Given the description of an element on the screen output the (x, y) to click on. 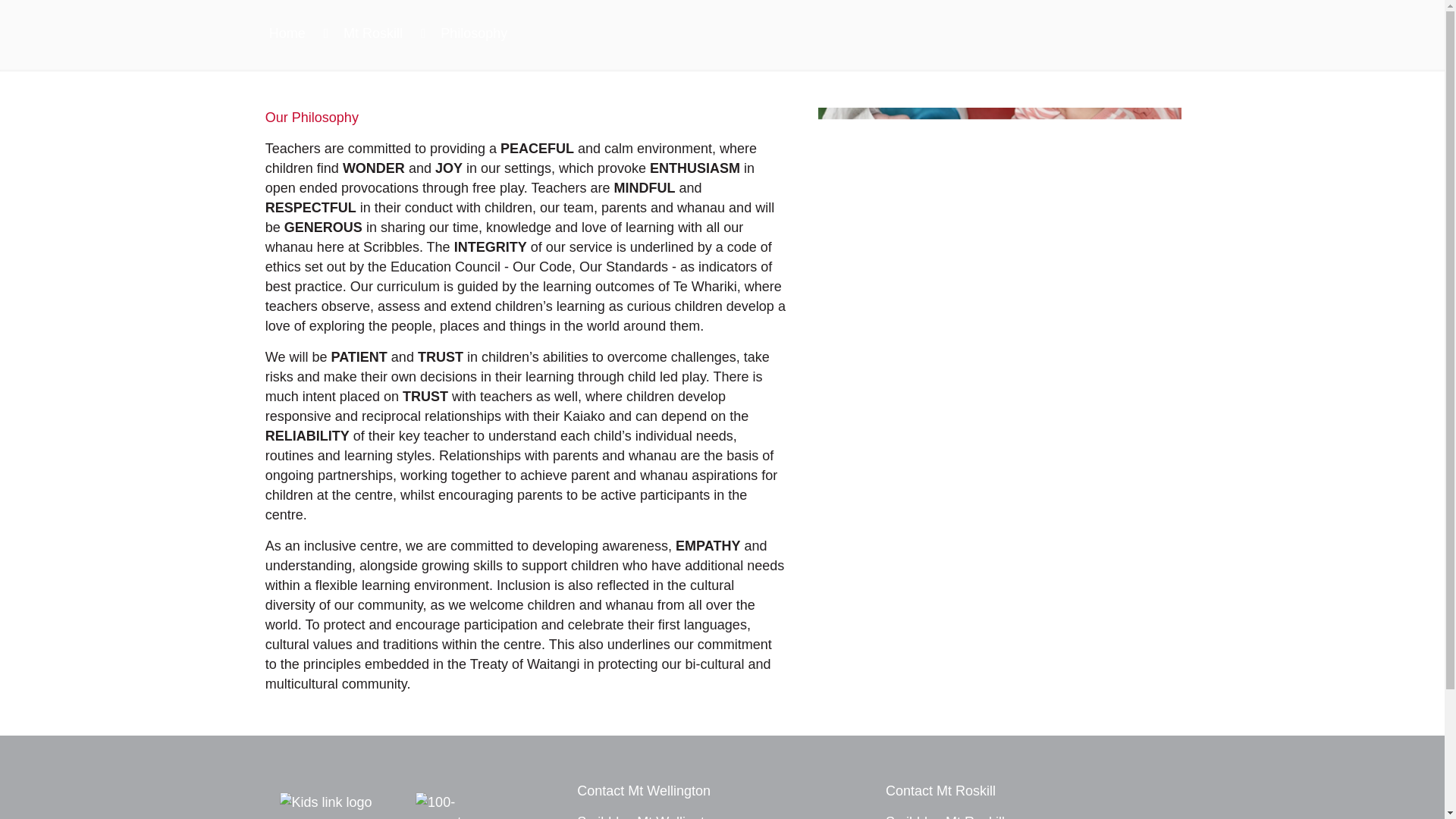
Philosophy (473, 32)
Home (287, 32)
Mt Roskill (373, 32)
